Given the description of an element on the screen output the (x, y) to click on. 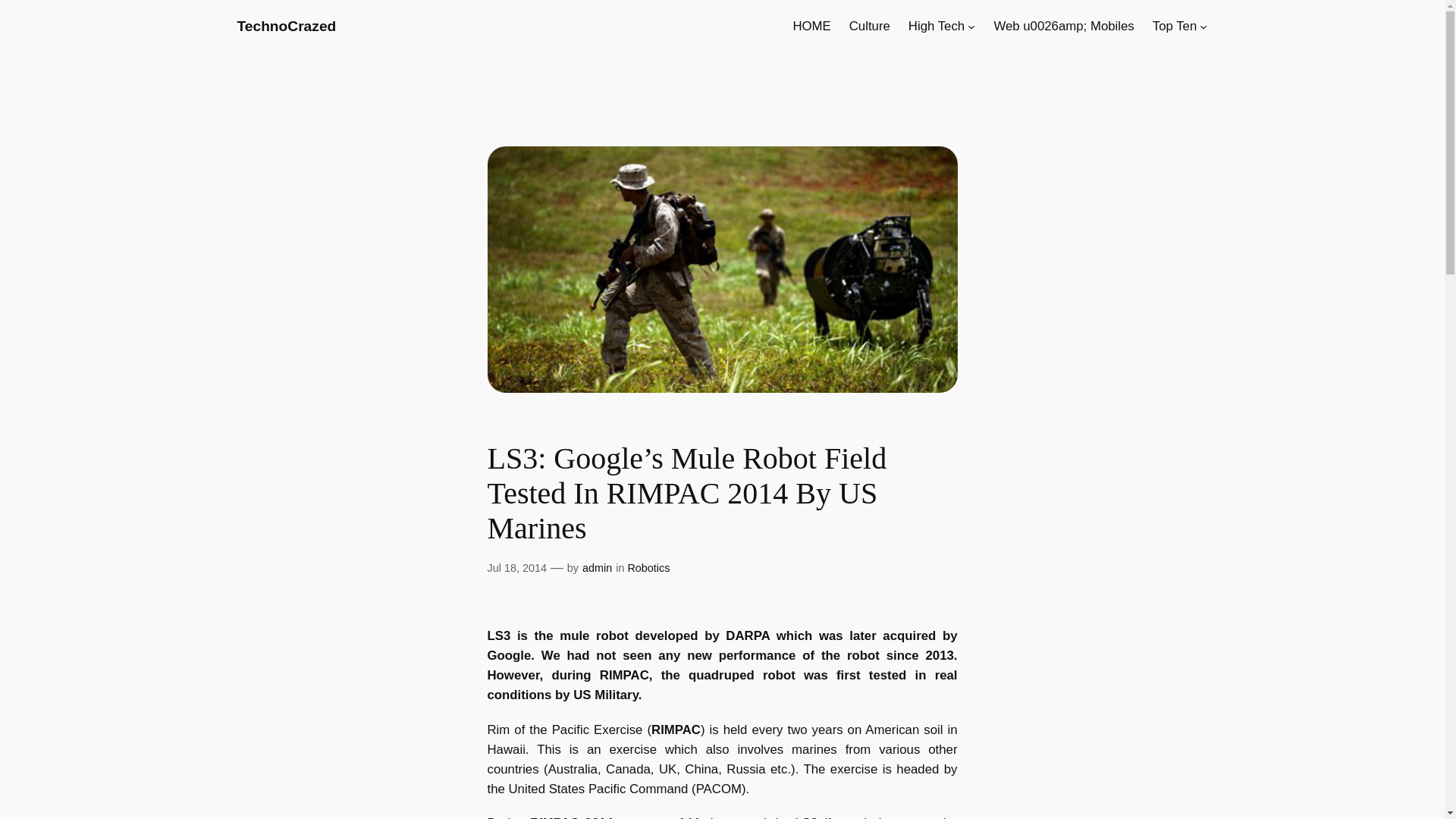
admin (596, 567)
Jul 18, 2014 (516, 567)
TechnoCrazed (285, 26)
HOME (810, 26)
Culture (868, 26)
Web u0026amp; Mobiles (1063, 26)
Top Ten (1174, 26)
High Tech (935, 26)
Robotics (648, 567)
